Given the description of an element on the screen output the (x, y) to click on. 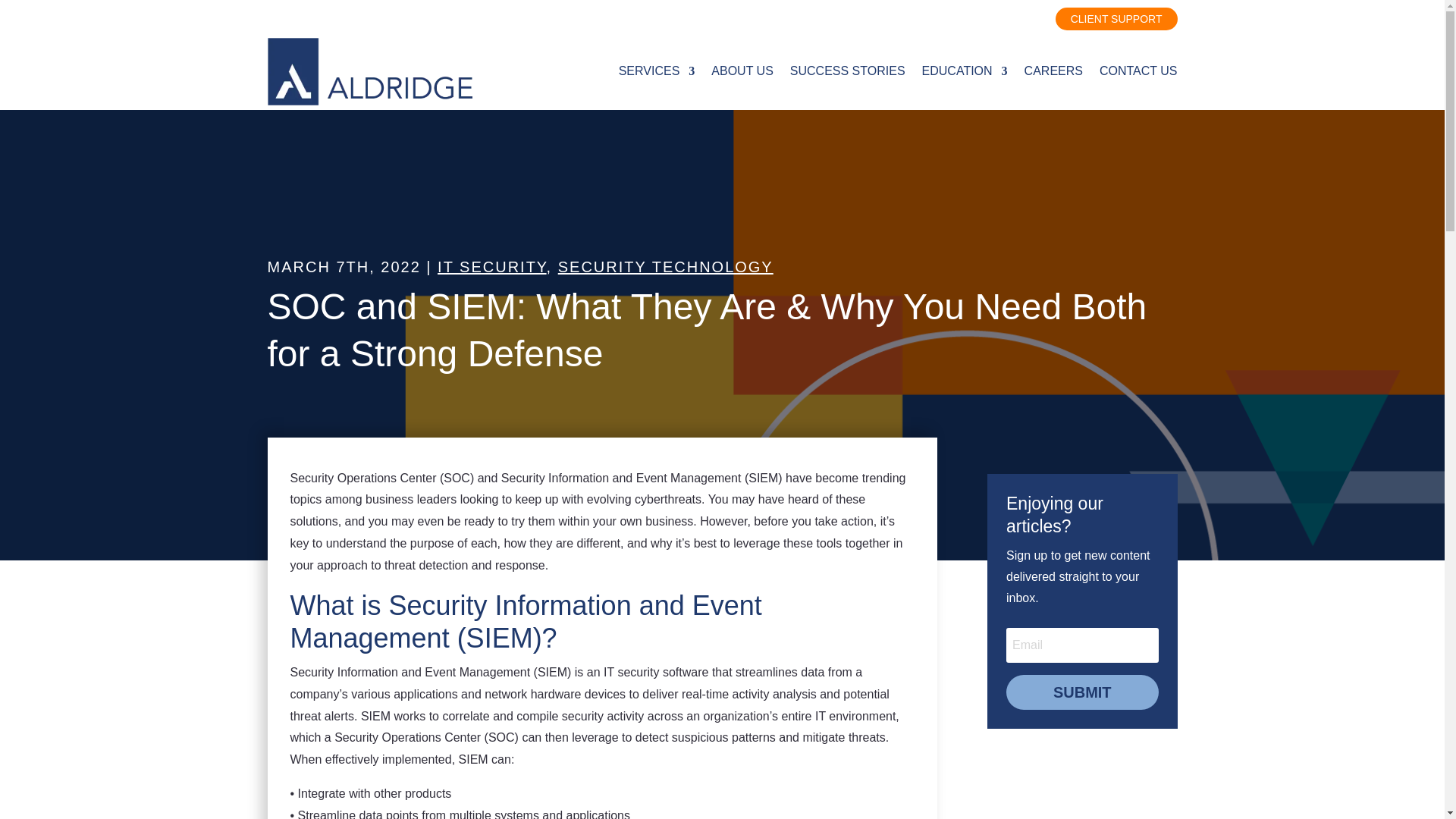
CLIENT SUPPORT (1116, 18)
About Aldridge (742, 71)
SUBMIT (1082, 692)
SERVICES (656, 71)
IT SECURITY (492, 266)
EDUCATION (964, 71)
SUCCESS STORIES (847, 71)
Managed IT Services TX (656, 71)
Insights (964, 71)
CONTACT US (1138, 71)
SECURITY TECHNOLOGY (665, 266)
ABOUT US (742, 71)
Contact Aldridge (1138, 71)
